Given the description of an element on the screen output the (x, y) to click on. 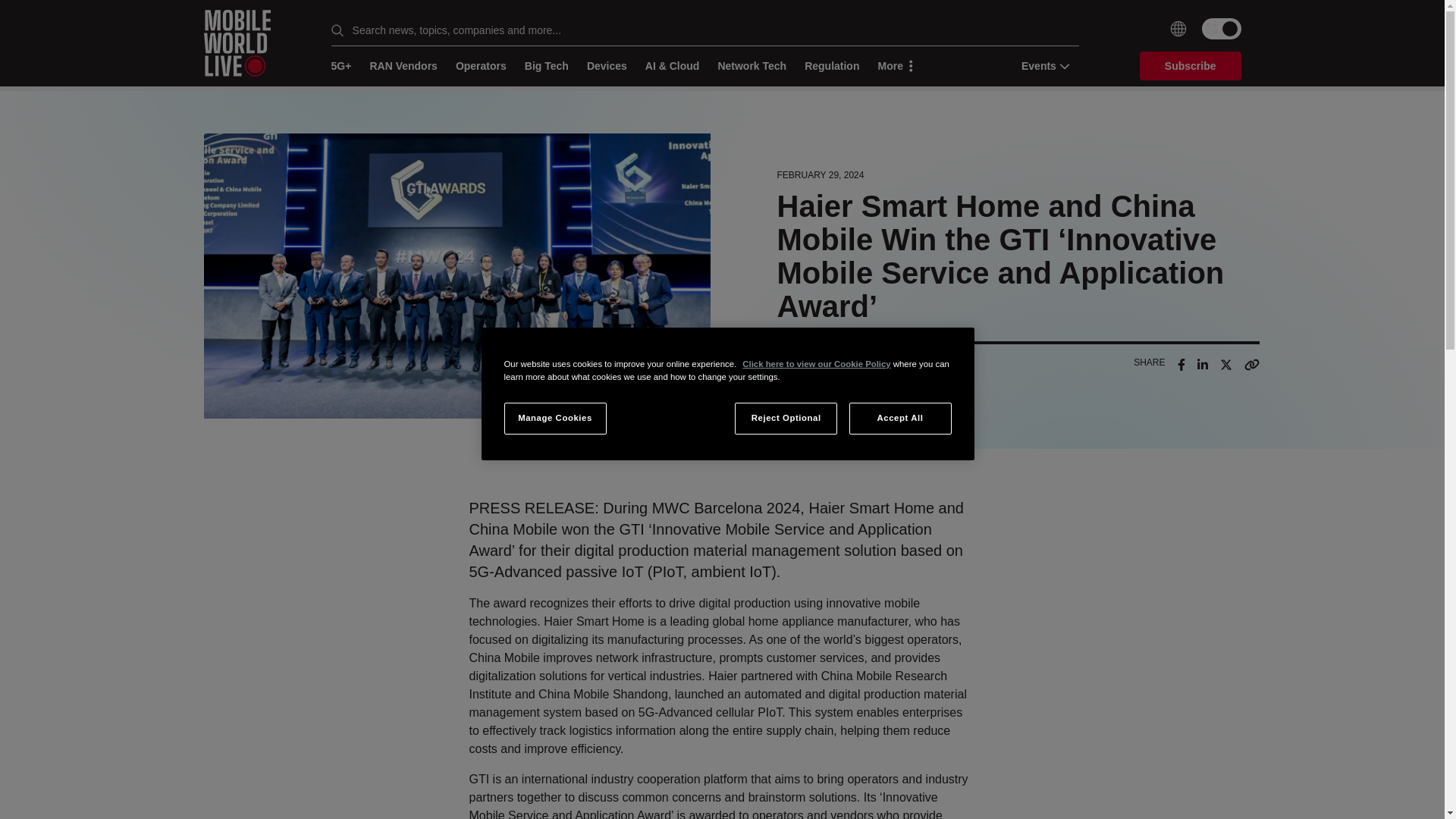
Subscribe (1190, 65)
RAN Vendors (402, 65)
Events (1040, 65)
Devices (606, 65)
Network Tech (751, 65)
Regulation (832, 65)
Big Tech (546, 65)
Operators (480, 65)
